Given the description of an element on the screen output the (x, y) to click on. 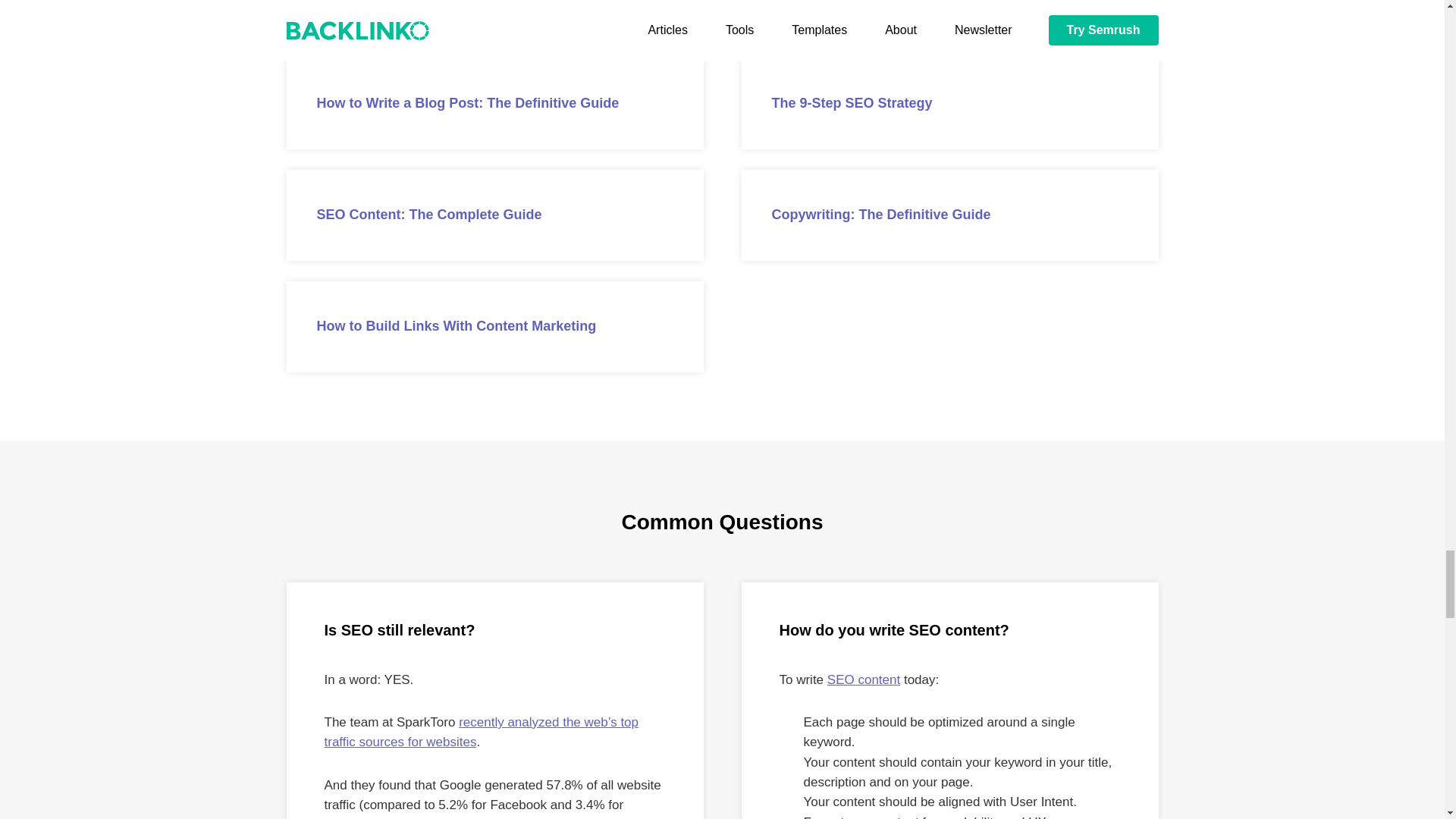
SEO Content: The Complete Guide (494, 215)
SEO content (863, 679)
How to Write a Blog Post: The Definitive Guide (494, 103)
How to Build Links With Content Marketing (494, 326)
The 9-Step SEO Strategy (949, 103)
Website top traffic sources analysis (481, 731)
Copywriting: The Definitive Guide (949, 215)
